Given the description of an element on the screen output the (x, y) to click on. 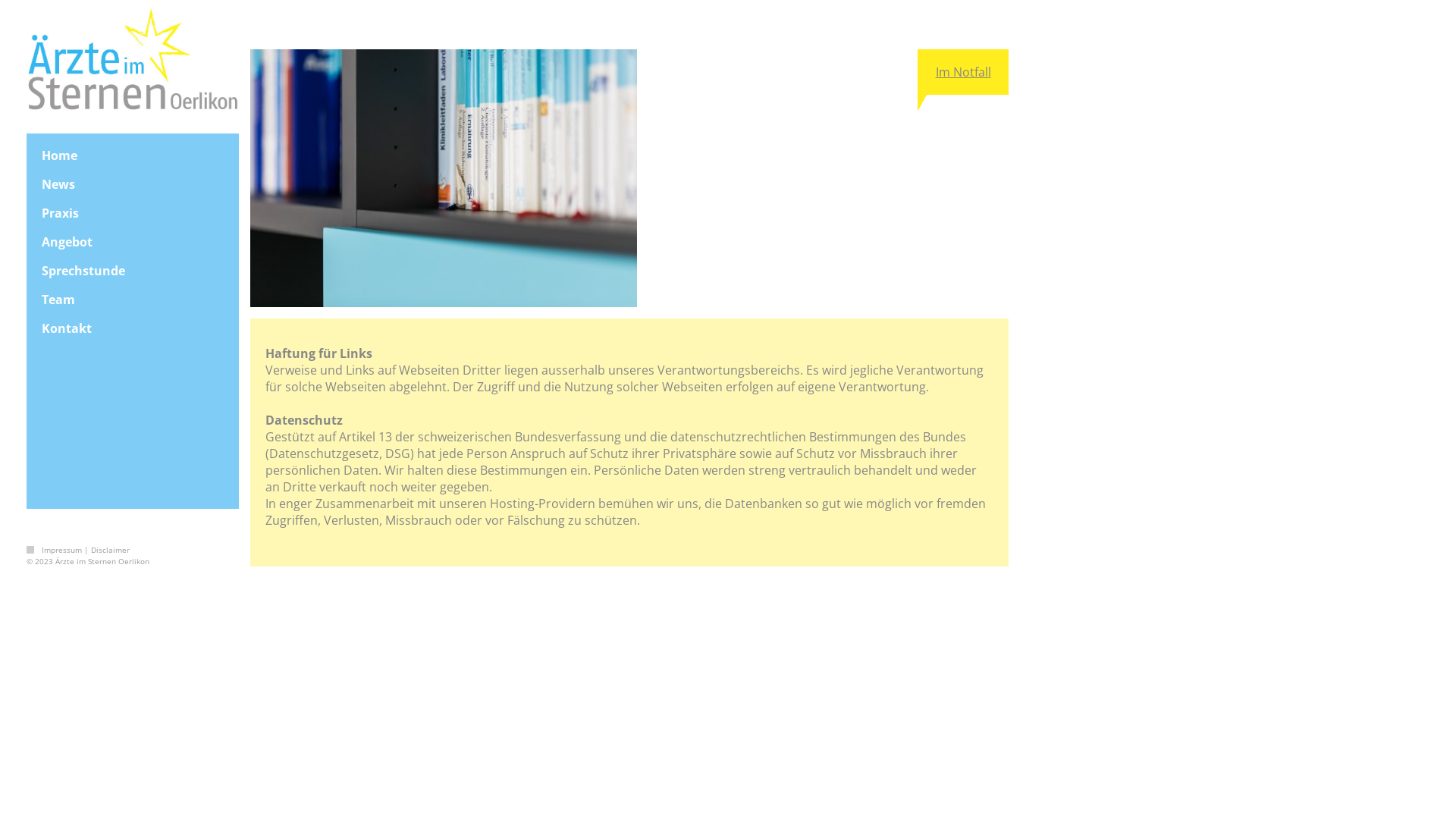
Angebot Element type: text (132, 241)
Sprechstunde Element type: text (132, 270)
Impressum Element type: text (61, 549)
News Element type: text (132, 183)
Home Element type: text (132, 155)
Disclaimer Element type: text (110, 549)
Praxis Element type: text (132, 212)
Kontakt Element type: text (132, 327)
Team Element type: text (132, 299)
Im Notfall Element type: text (963, 71)
